Given the description of an element on the screen output the (x, y) to click on. 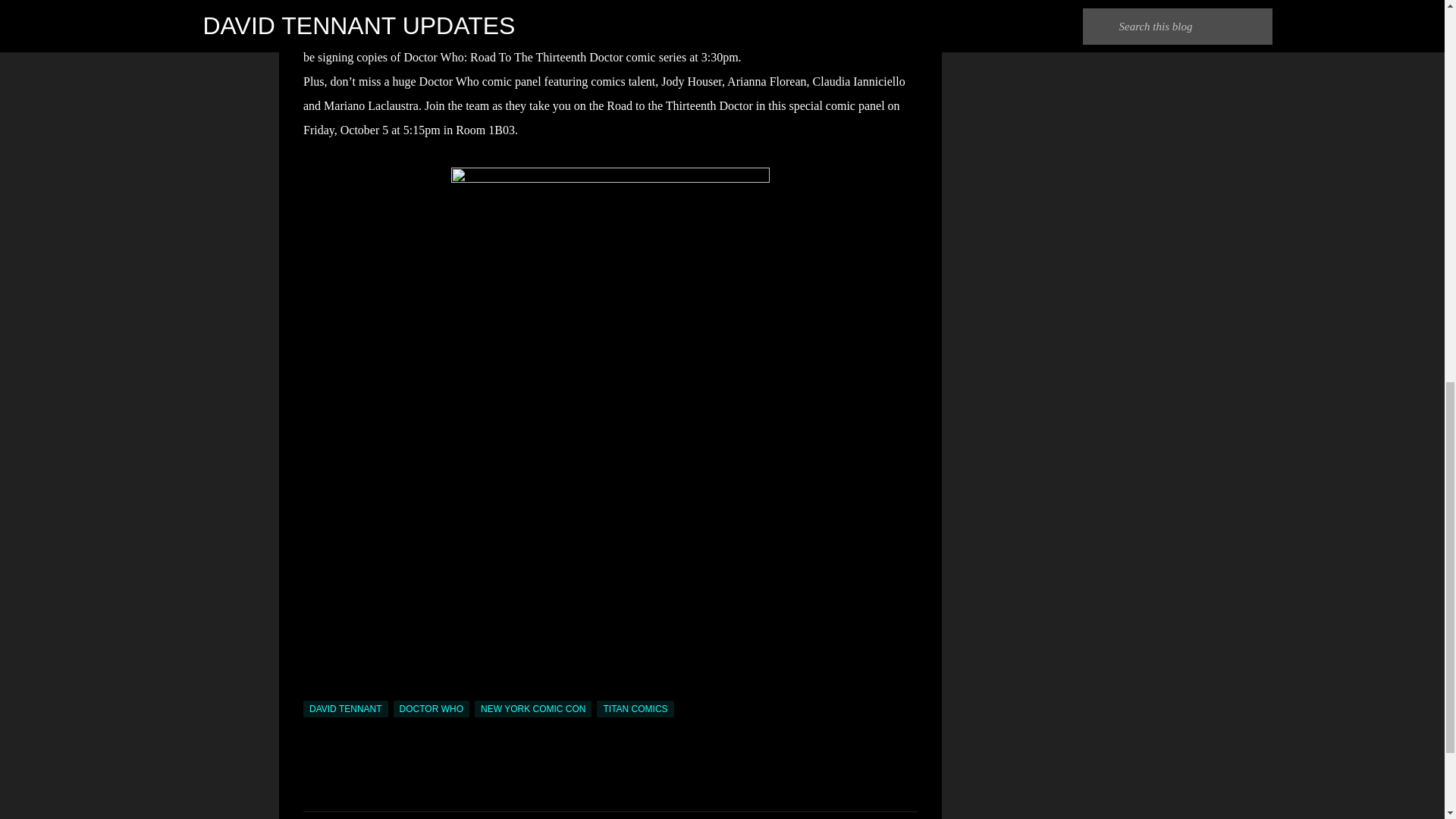
Email Post (311, 691)
TITAN COMICS (634, 709)
DOCTOR WHO (430, 709)
NEW YORK COMIC CON (532, 709)
DAVID TENNANT (345, 709)
